Given the description of an element on the screen output the (x, y) to click on. 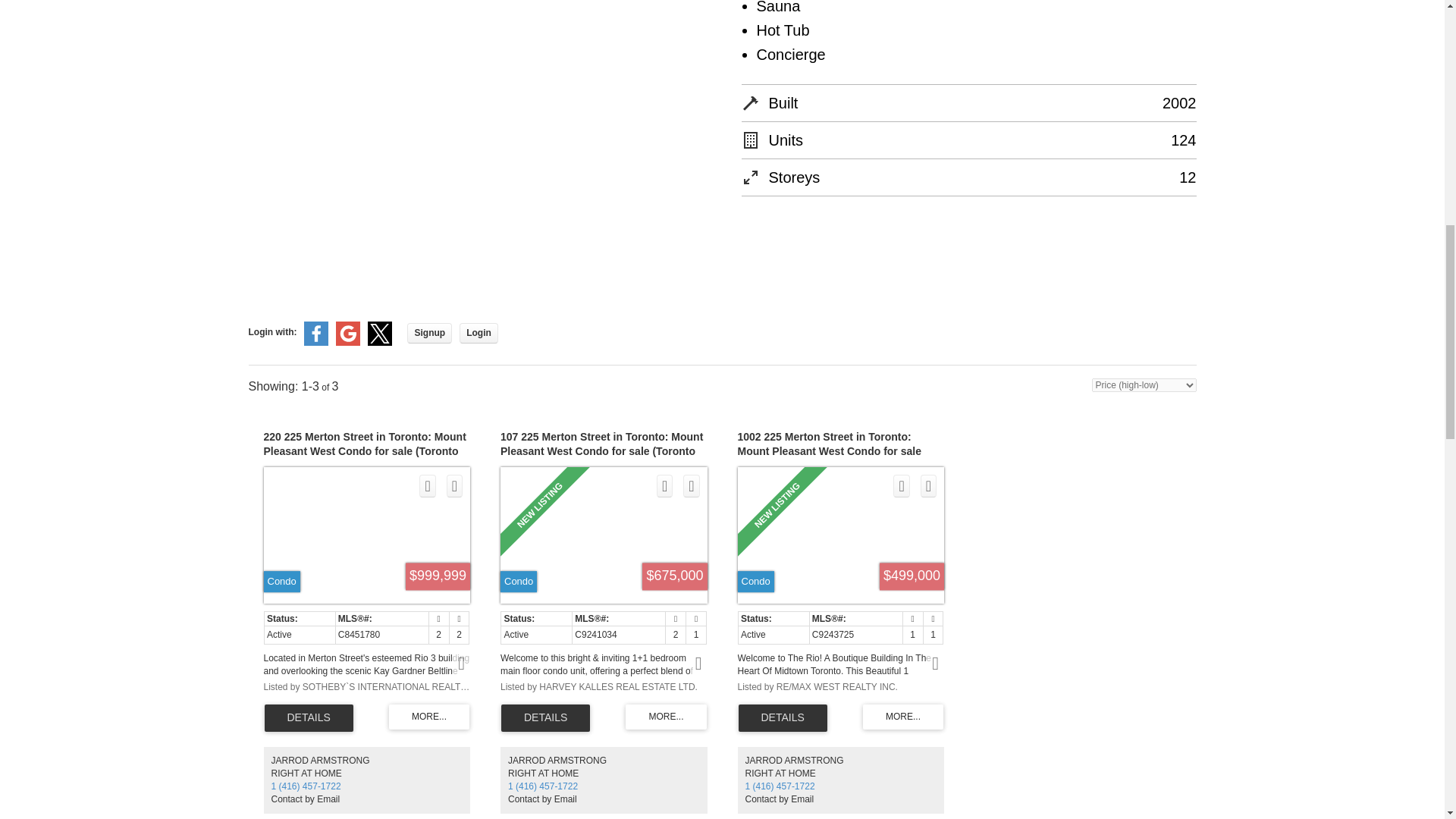
Listed by HARVEY KALLES REAL ESTATE LTD. (603, 686)
Login with Google (347, 342)
Login with Facebook (316, 342)
Login with Facebook (316, 333)
Login with Google (347, 333)
